Given the description of an element on the screen output the (x, y) to click on. 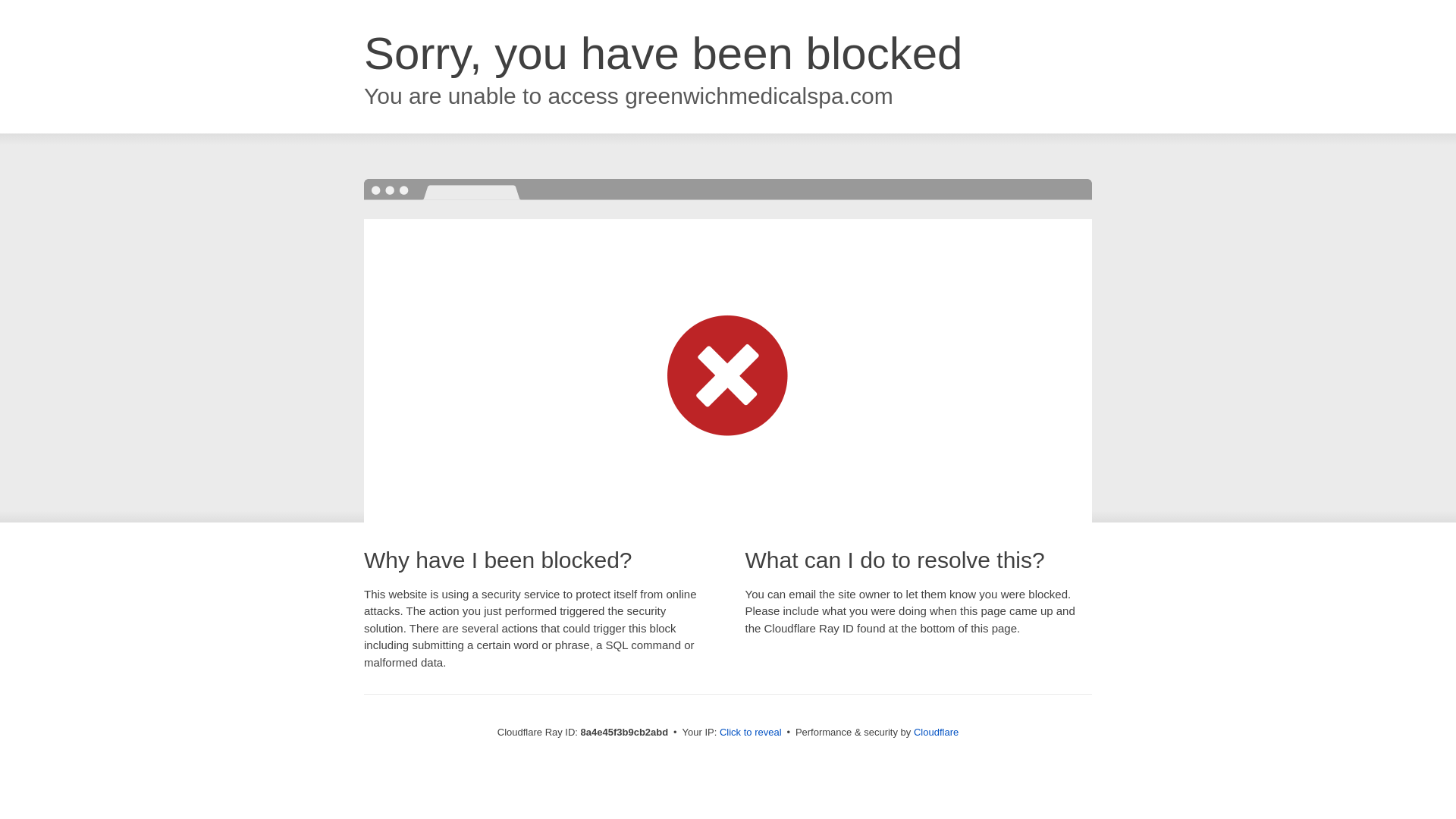
Click to reveal (750, 732)
Cloudflare (936, 731)
